Given the description of an element on the screen output the (x, y) to click on. 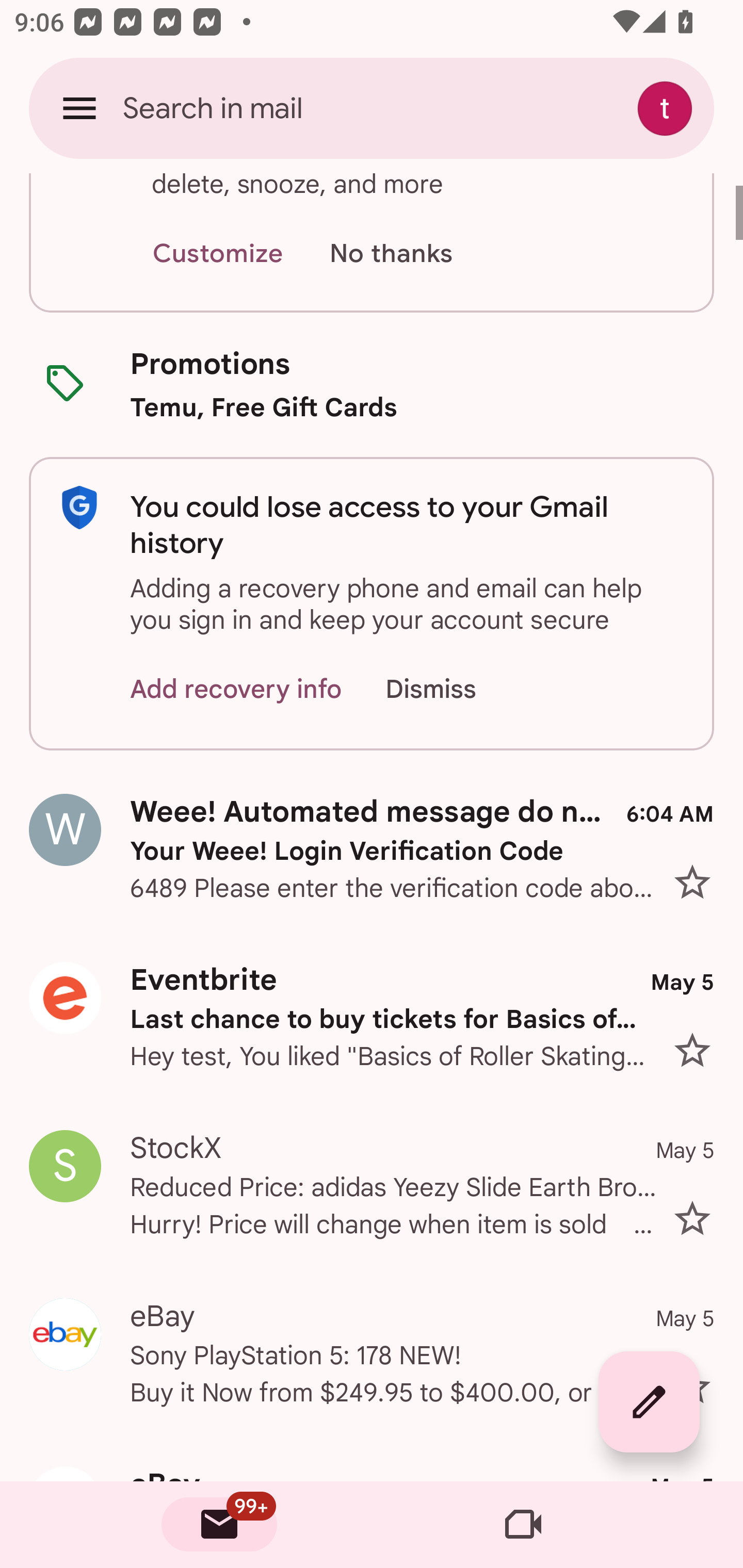
Open navigation drawer (79, 108)
Customize (217, 253)
No thanks (390, 253)
Promotions Temu, Free Gift Cards (371, 384)
Add recovery info (235, 689)
Dismiss (449, 689)
Compose (648, 1401)
Meet (523, 1524)
